Given the description of an element on the screen output the (x, y) to click on. 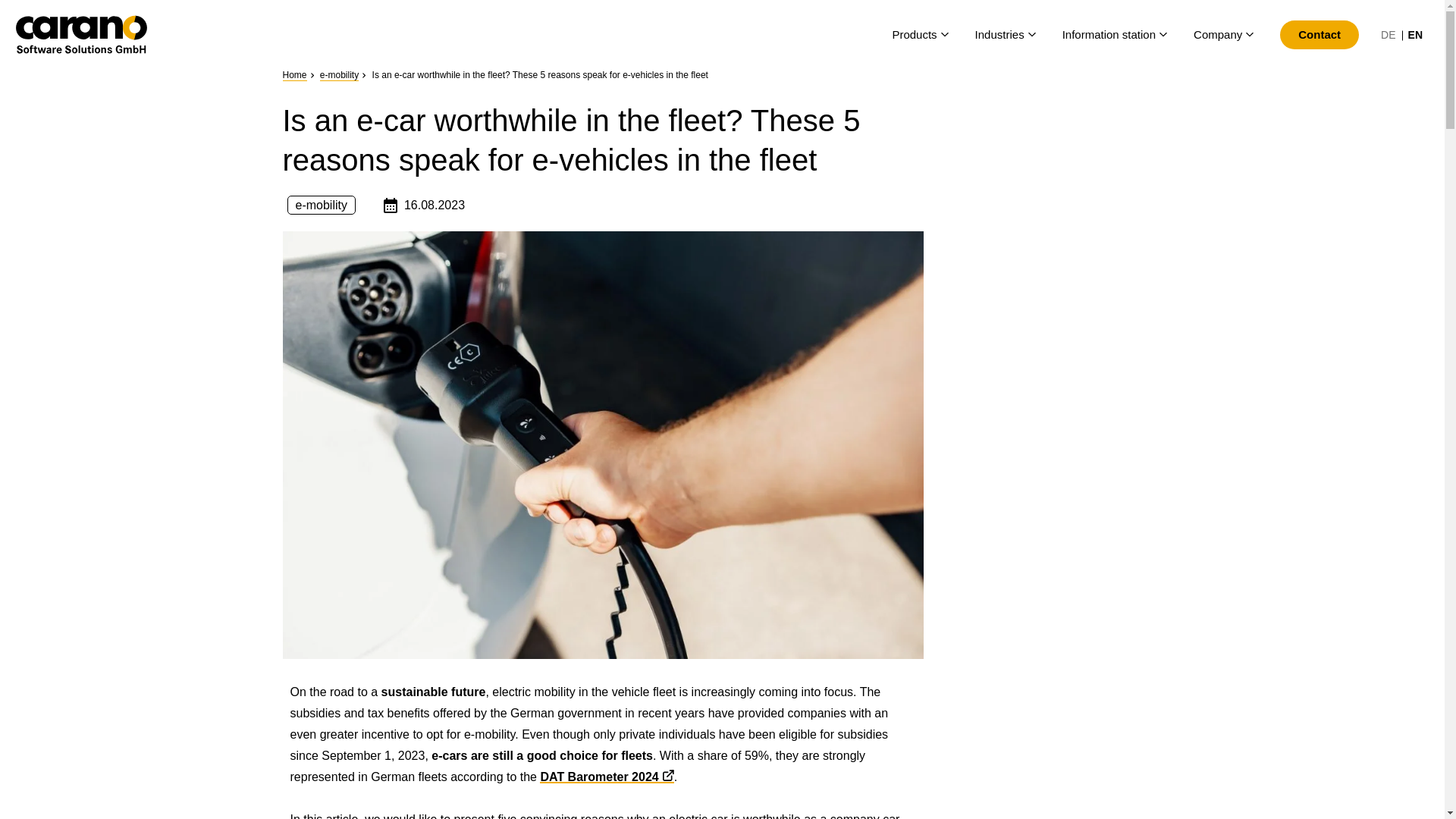
Information station (1109, 34)
Products (913, 34)
Industries (1000, 34)
Contact (1319, 34)
Company (1217, 34)
